Given the description of an element on the screen output the (x, y) to click on. 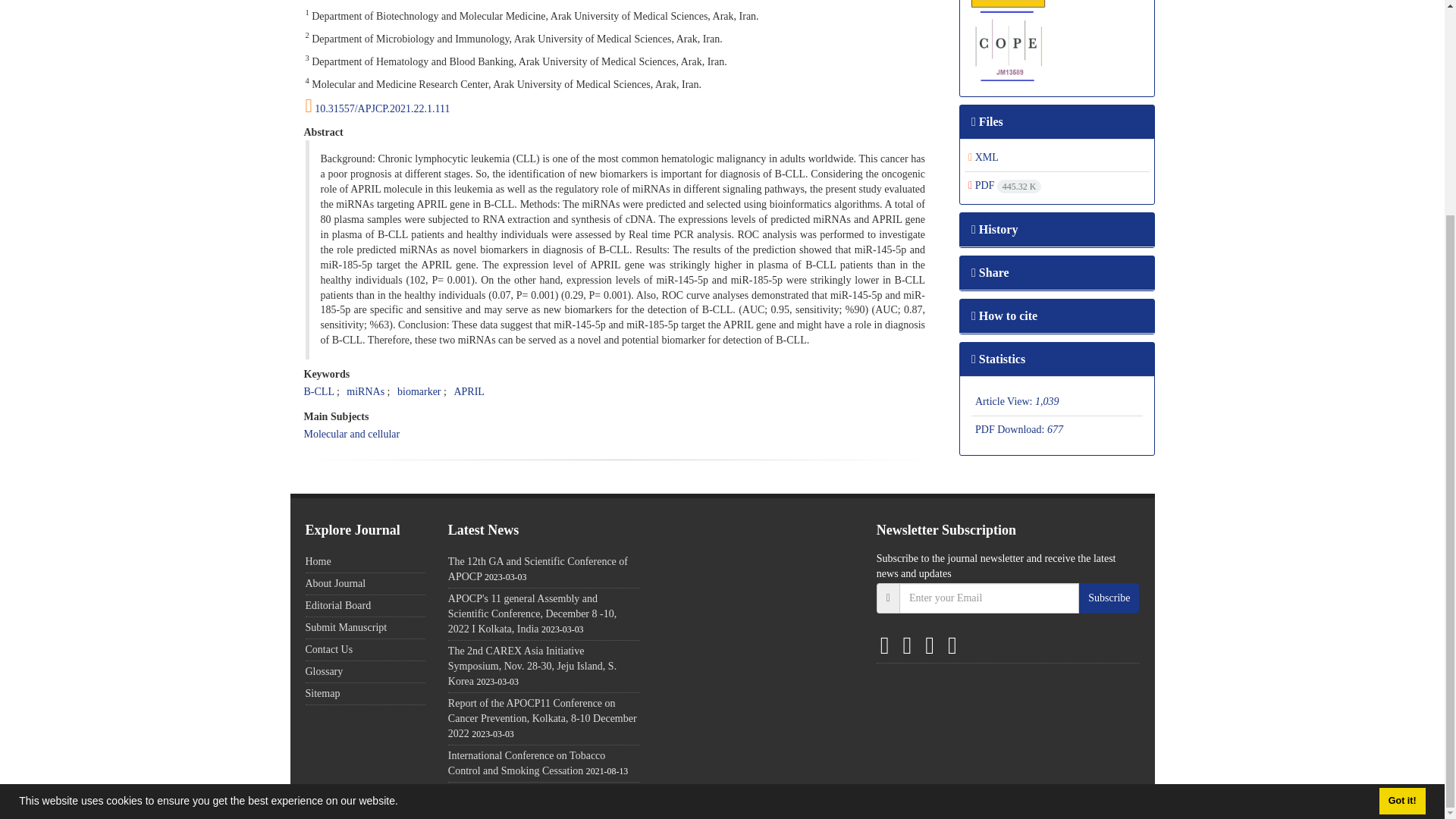
DOI (620, 106)
B-CLL (317, 391)
Got it! (1401, 519)
